Given the description of an element on the screen output the (x, y) to click on. 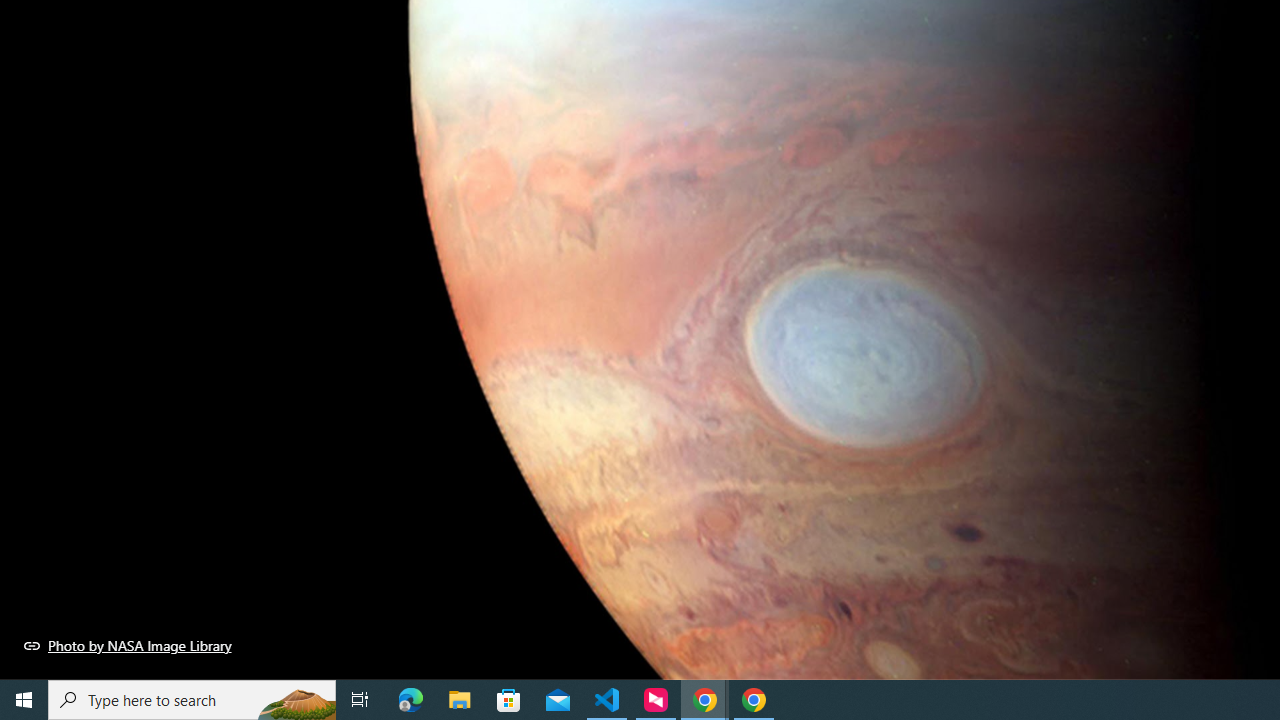
Photo by NASA Image Library (127, 645)
